Given the description of an element on the screen output the (x, y) to click on. 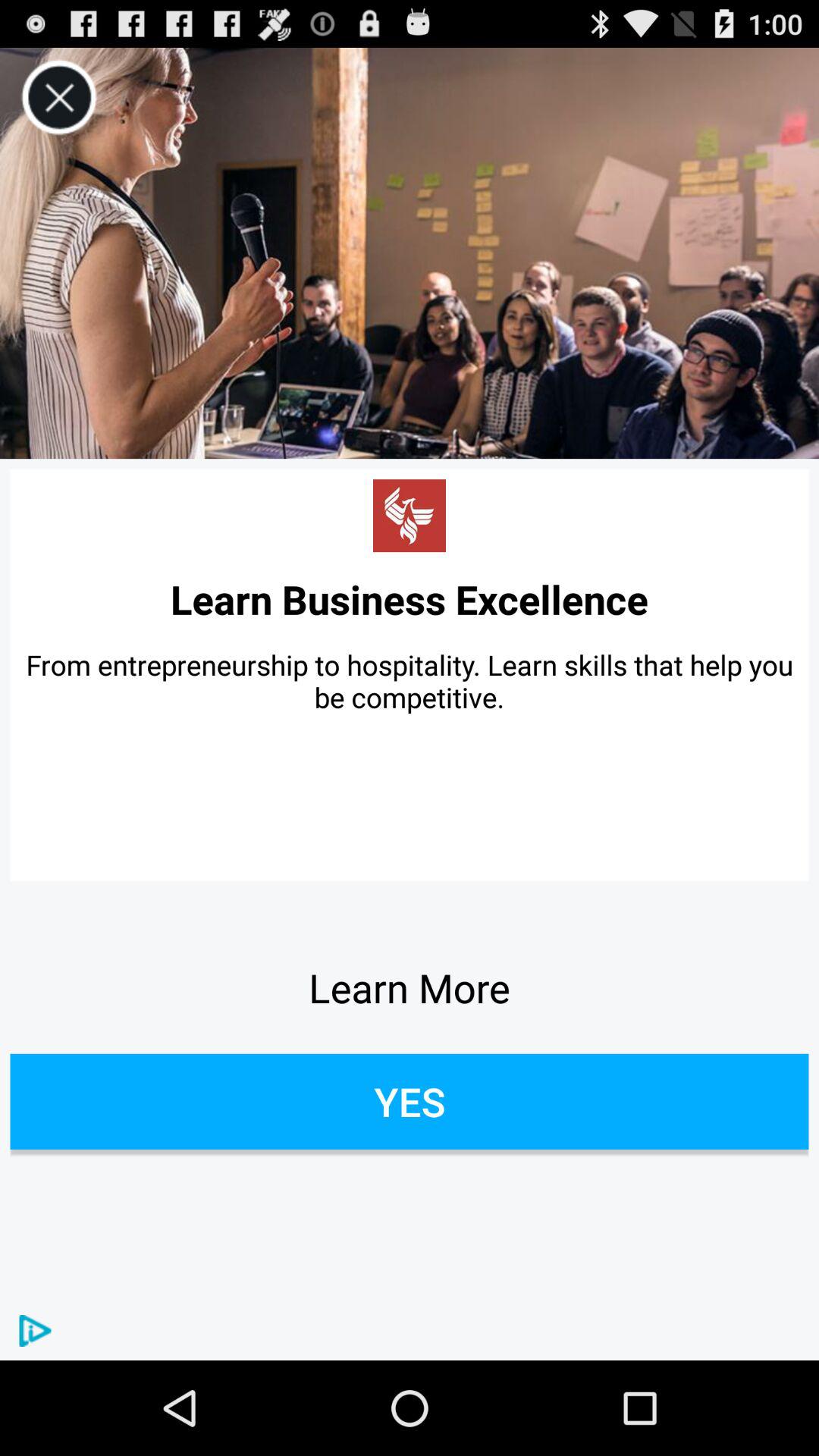
click the button above yes (409, 987)
